Given the description of an element on the screen output the (x, y) to click on. 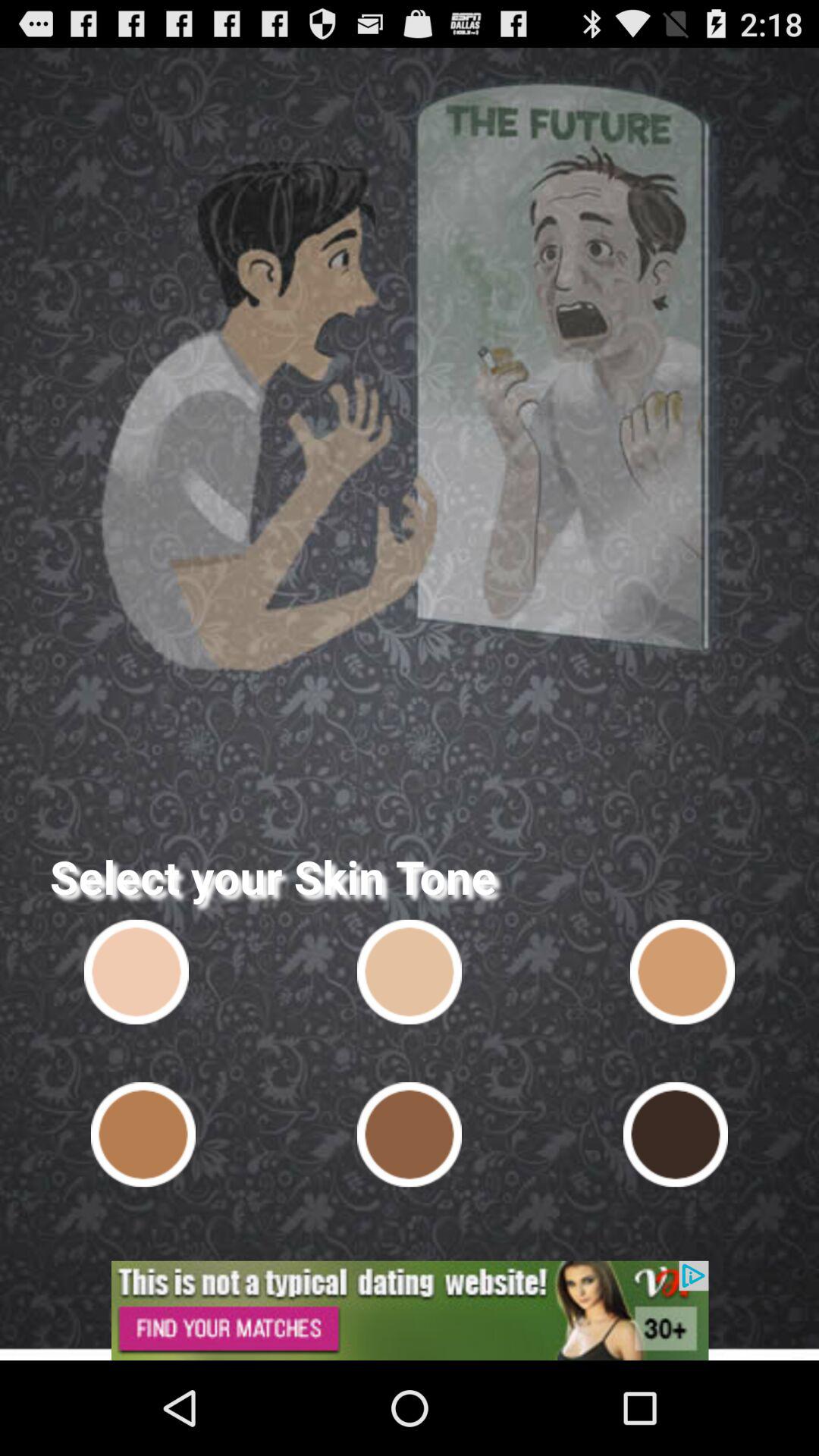
select skin tone (675, 1134)
